Given the description of an element on the screen output the (x, y) to click on. 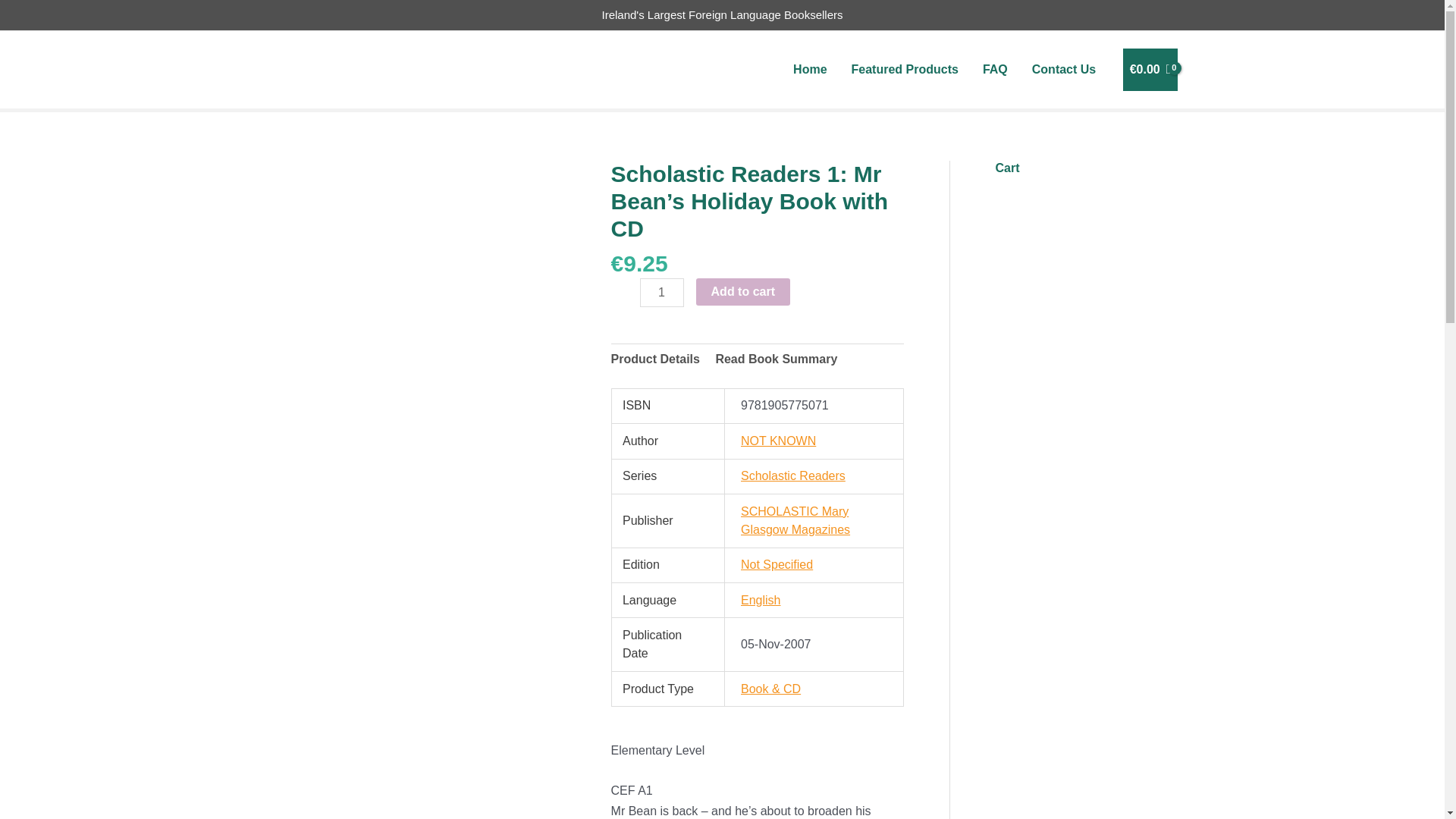
Add to cart (742, 291)
Read Book Summary (775, 359)
FAQ (995, 69)
1 (662, 292)
Product Details (655, 359)
Contact Us (1064, 69)
SCHOLASTIC Mary Glasgow Magazines (795, 520)
Featured Products (905, 69)
Home (809, 69)
Scholastic Readers (793, 475)
